Given the description of an element on the screen output the (x, y) to click on. 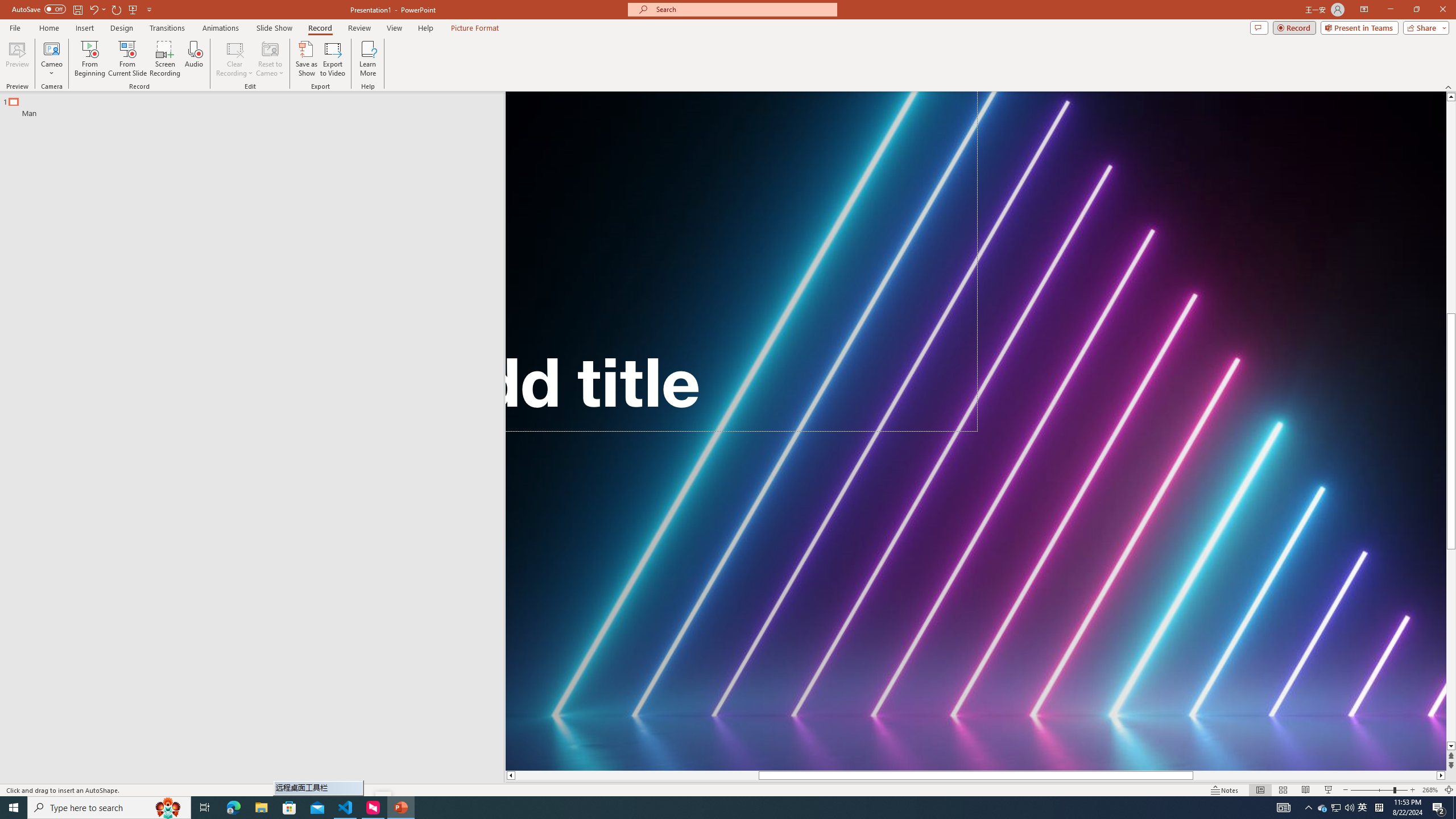
Notes  (1225, 790)
Microsoft search (742, 9)
Picture Format (475, 28)
Insert (83, 28)
Close (1442, 9)
Reset to Cameo (269, 58)
Review (359, 28)
Home (48, 28)
Minimize (1390, 9)
Zoom to Fit  (1449, 790)
Class: MsoCommandBar (728, 789)
Quick Access Toolbar (82, 9)
